Given the description of an element on the screen output the (x, y) to click on. 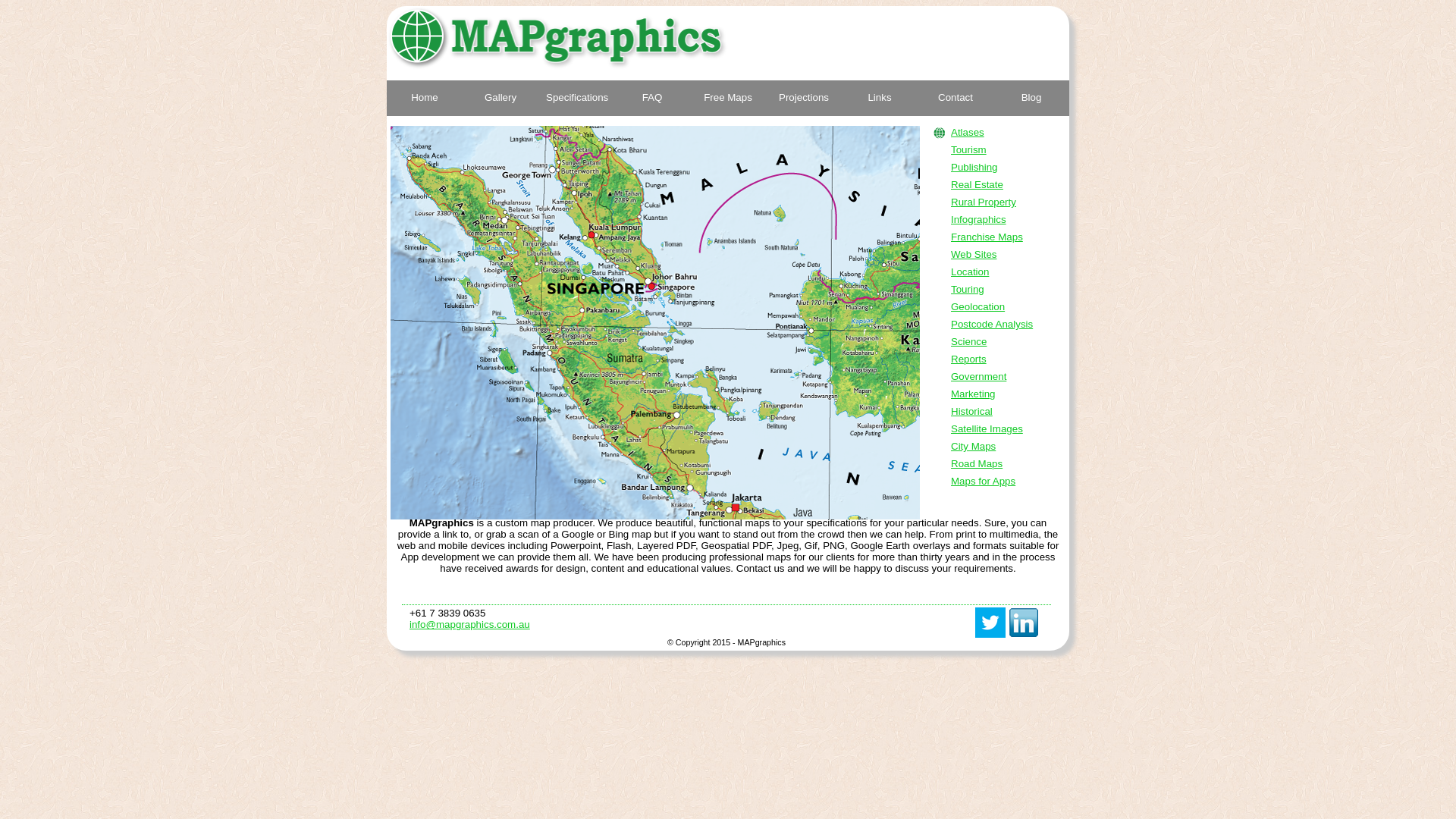
Links Element type: text (879, 98)
City Maps Element type: text (972, 445)
Reports Element type: text (968, 358)
Rural Property Element type: text (983, 201)
Science Element type: text (968, 341)
Location Element type: text (969, 271)
Infographics Element type: text (978, 219)
info@mapgraphics.com.au Element type: text (469, 624)
Tourism Element type: text (968, 149)
Maps for Apps Element type: text (982, 480)
Projections Element type: text (803, 98)
Specifications Element type: text (576, 98)
Road Maps Element type: text (976, 463)
Contact Element type: text (955, 98)
Touring Element type: text (967, 288)
Atlases Element type: text (967, 132)
Gallery Element type: text (500, 98)
Web Sites Element type: text (973, 254)
Publishing Element type: text (973, 166)
Geolocation Element type: text (977, 306)
Satellite Images Element type: text (986, 428)
Free Maps Element type: text (727, 98)
Government Element type: text (978, 376)
Marketing Element type: text (972, 393)
Blog Element type: text (1031, 98)
Real Estate Element type: text (976, 184)
Postcode Analysis Element type: text (991, 323)
Franchise Maps Element type: text (986, 236)
FAQ Element type: text (652, 98)
Home Element type: text (424, 98)
Historical Element type: text (971, 411)
